Given the description of an element on the screen output the (x, y) to click on. 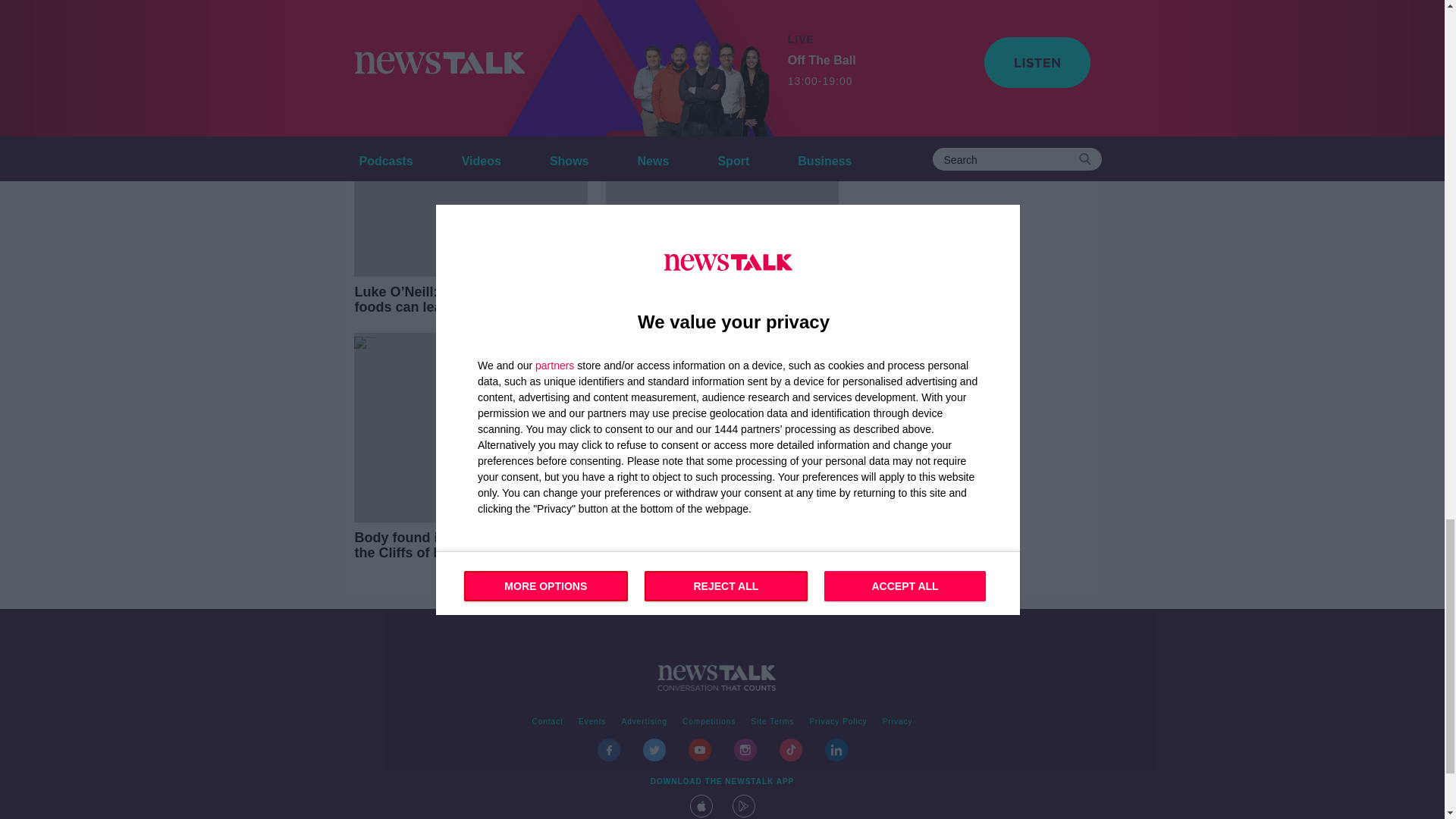
contact (547, 721)
advertising (644, 721)
competitions (708, 721)
Privacy Policy (838, 721)
events (592, 721)
Privacy (897, 721)
site terms (772, 721)
